Given the description of an element on the screen output the (x, y) to click on. 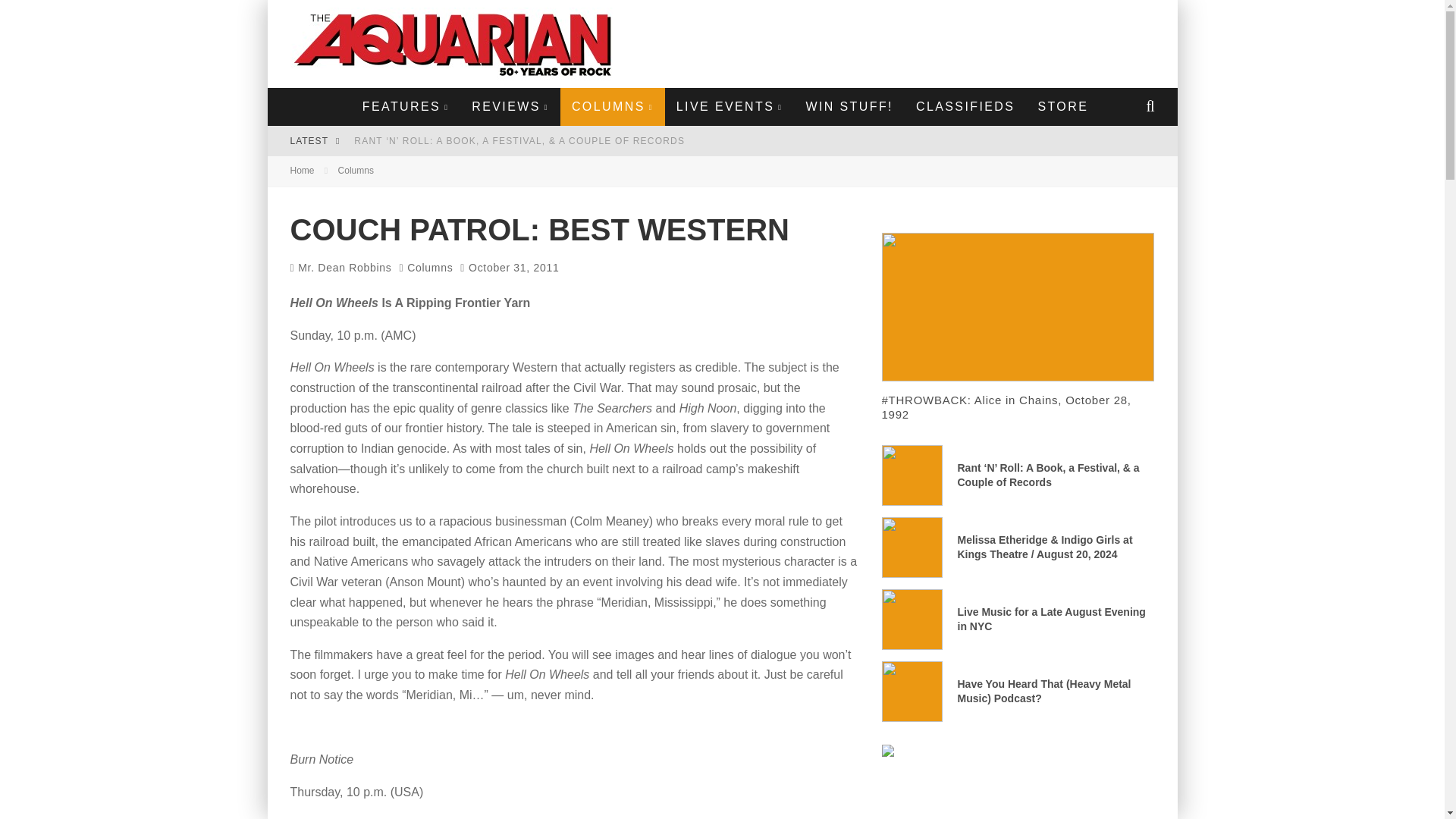
REVIEWS (510, 106)
FEATURES (405, 106)
COLUMNS (612, 106)
